Given the description of an element on the screen output the (x, y) to click on. 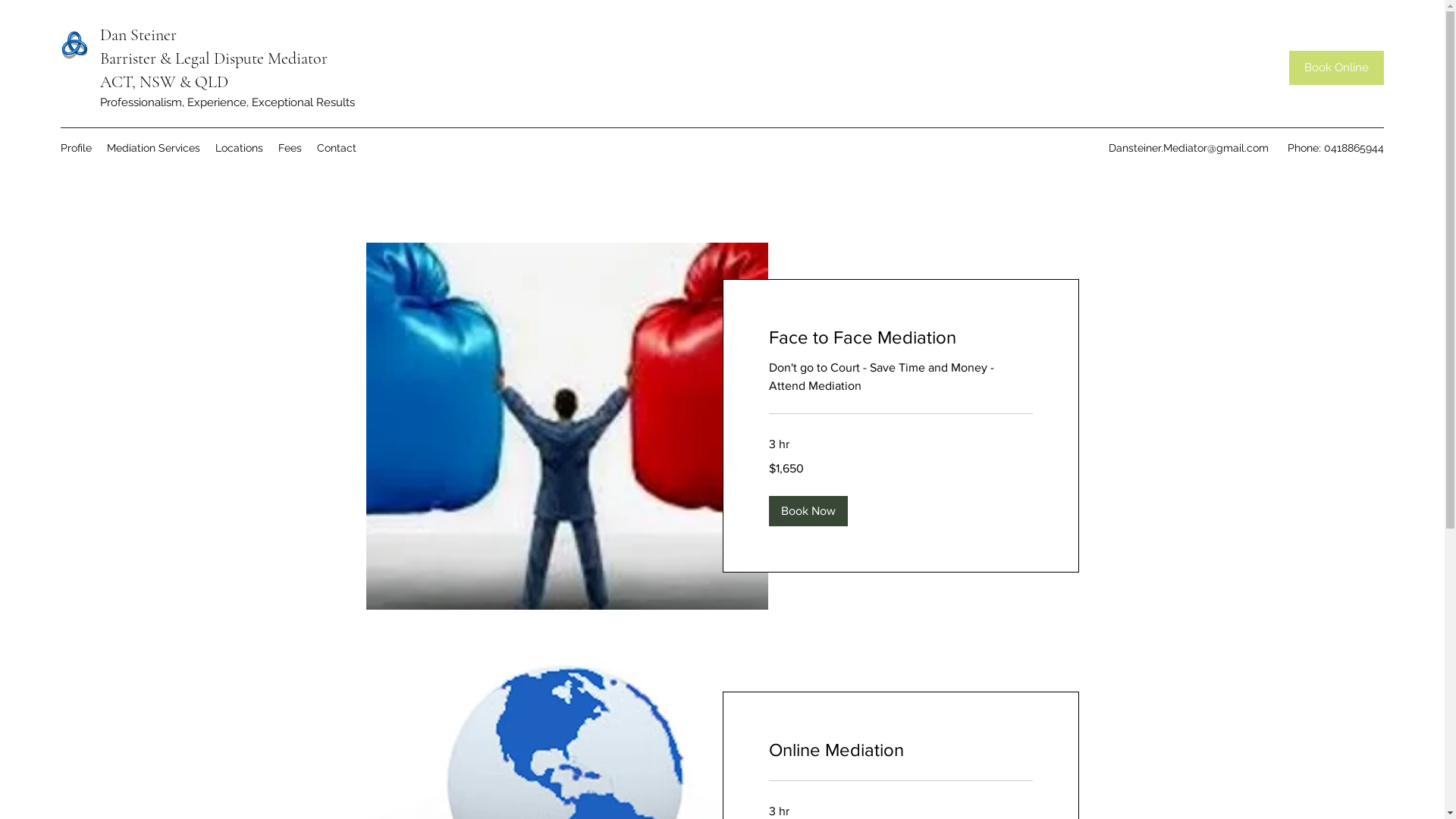
Online Mediation Element type: text (900, 749)
Dansteiner.Mediator@gmail.com Element type: text (1188, 147)
Mediation Services Element type: text (153, 147)
Profile Element type: text (76, 147)
Book Now Element type: text (807, 510)
Fees Element type: text (289, 147)
Contact Element type: text (336, 147)
Face to Face Mediation Element type: text (900, 337)
Book Online Element type: text (1336, 67)
Locations Element type: text (238, 147)
